Given the description of an element on the screen output the (x, y) to click on. 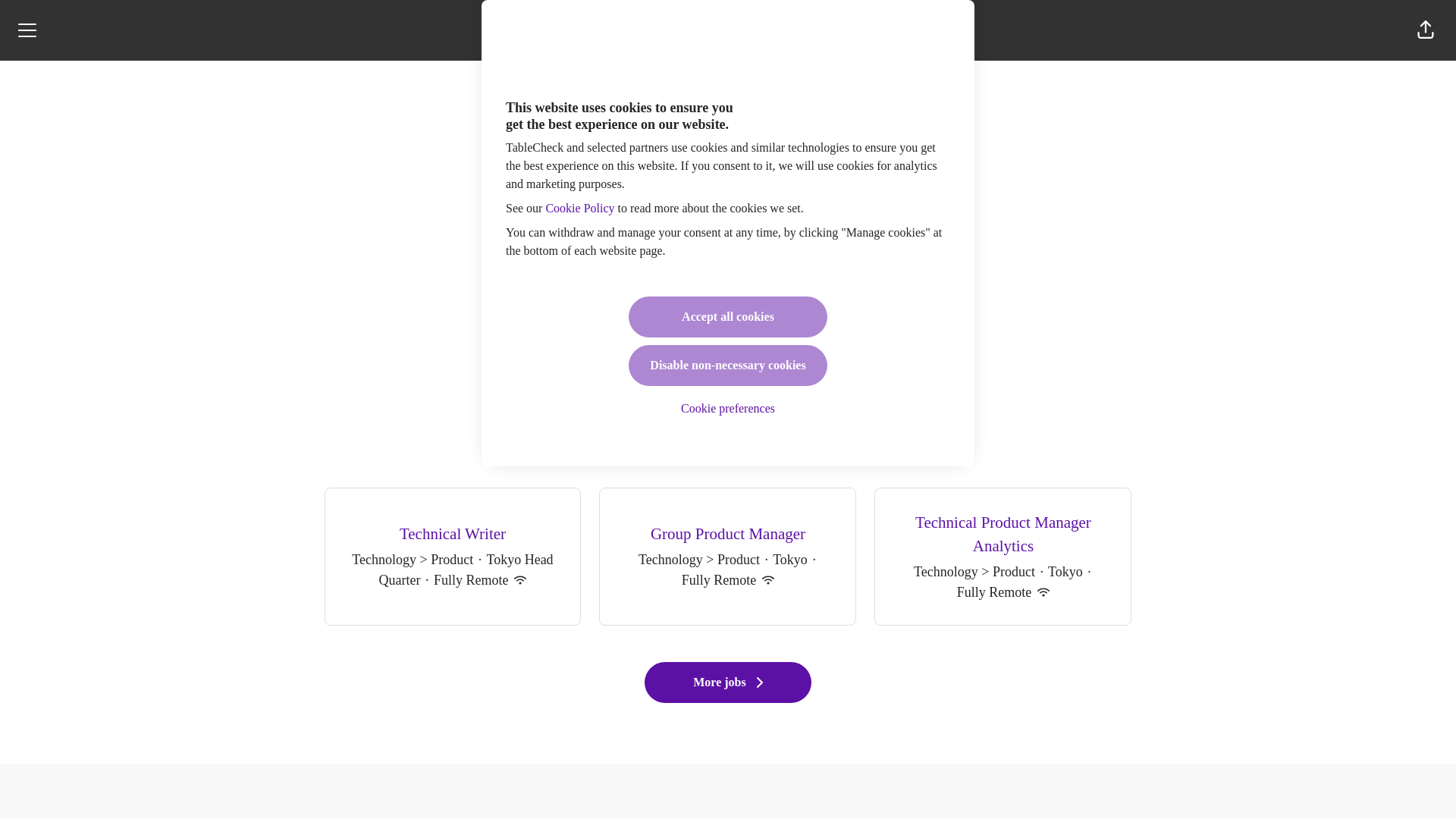
Share page (1426, 30)
Cookie Policy (579, 207)
Technical Writer (451, 534)
Accept all cookies (727, 316)
More jobs (727, 681)
Group Product Manager (727, 534)
Disable non-necessary cookies (727, 364)
Career menu (26, 30)
Technical Product Manager Analytics (1002, 534)
Cookie preferences (727, 408)
